Given the description of an element on the screen output the (x, y) to click on. 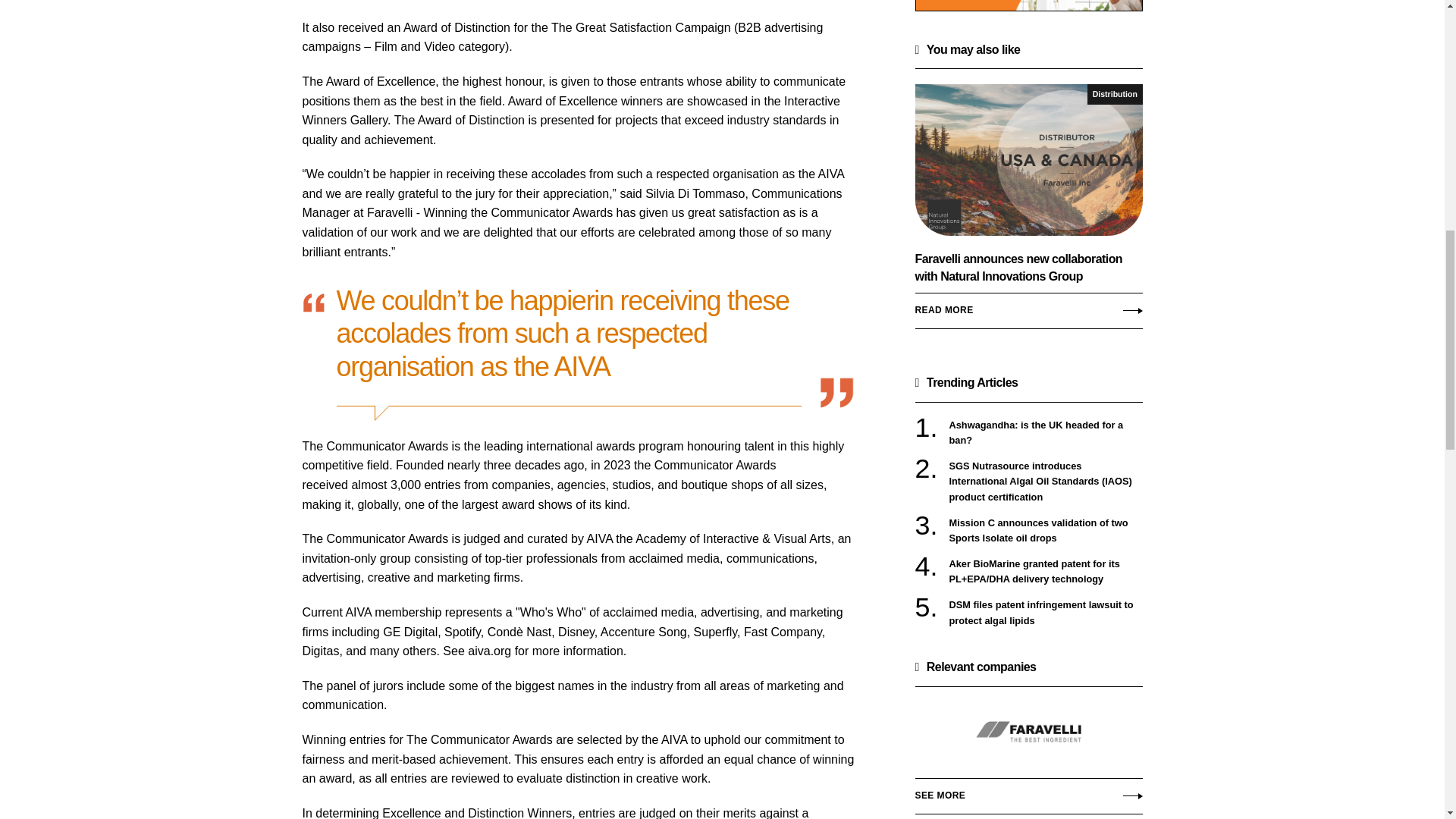
SEE MORE (1027, 794)
Distribution (1114, 94)
Ashwagandha: is the UK headed for a ban? (1045, 432)
Faravelli (1028, 732)
